Given the description of an element on the screen output the (x, y) to click on. 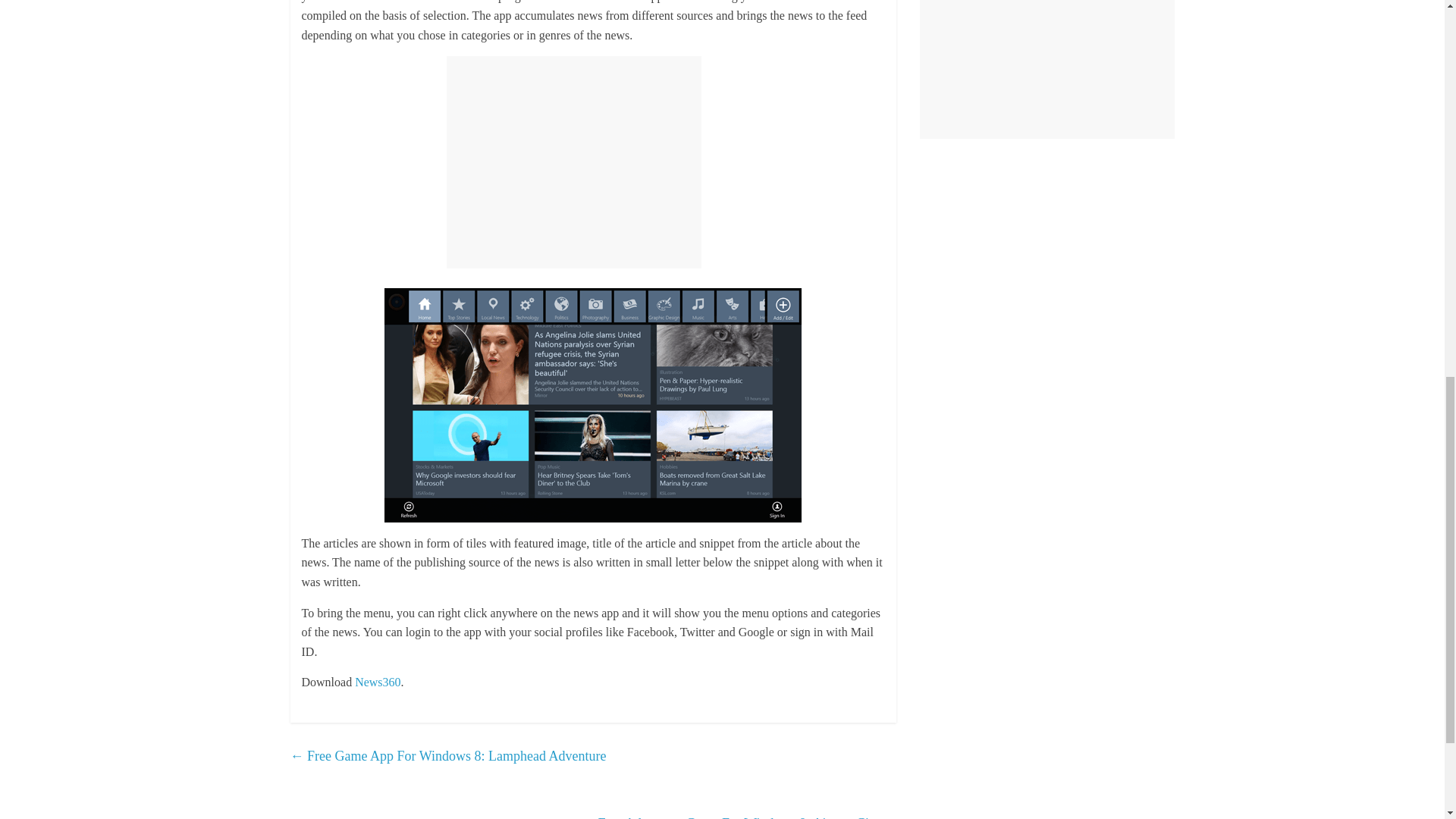
News360 (377, 681)
News360 (377, 681)
Free Windows 8 News App: Windows Central (851, 1)
news feed (851, 1)
